Given the description of an element on the screen output the (x, y) to click on. 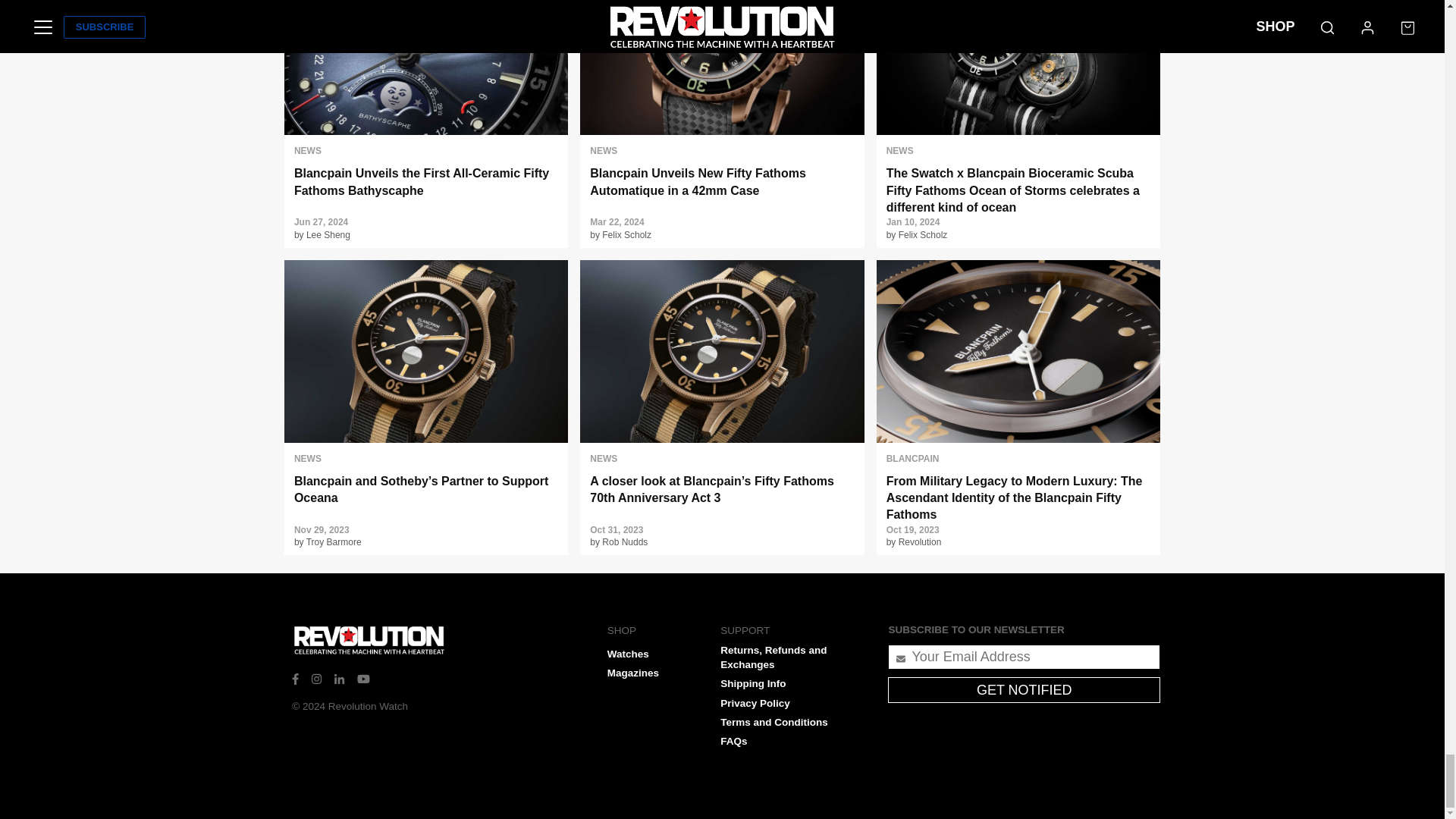
GET NOTIFIED (1024, 689)
